Given the description of an element on the screen output the (x, y) to click on. 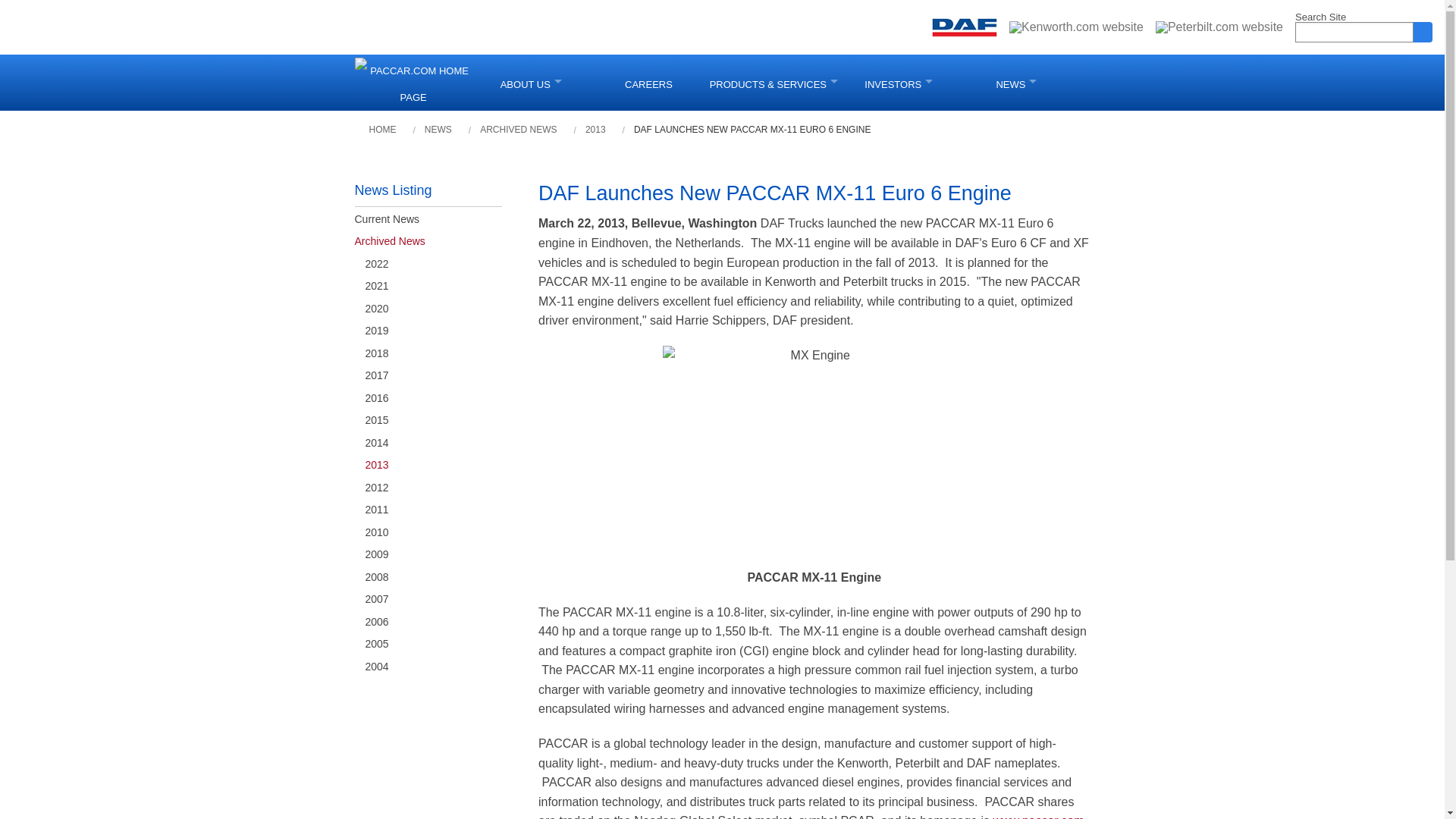
INVESTORS (899, 82)
ABOUT US (530, 82)
CAREERS (648, 82)
